Given the description of an element on the screen output the (x, y) to click on. 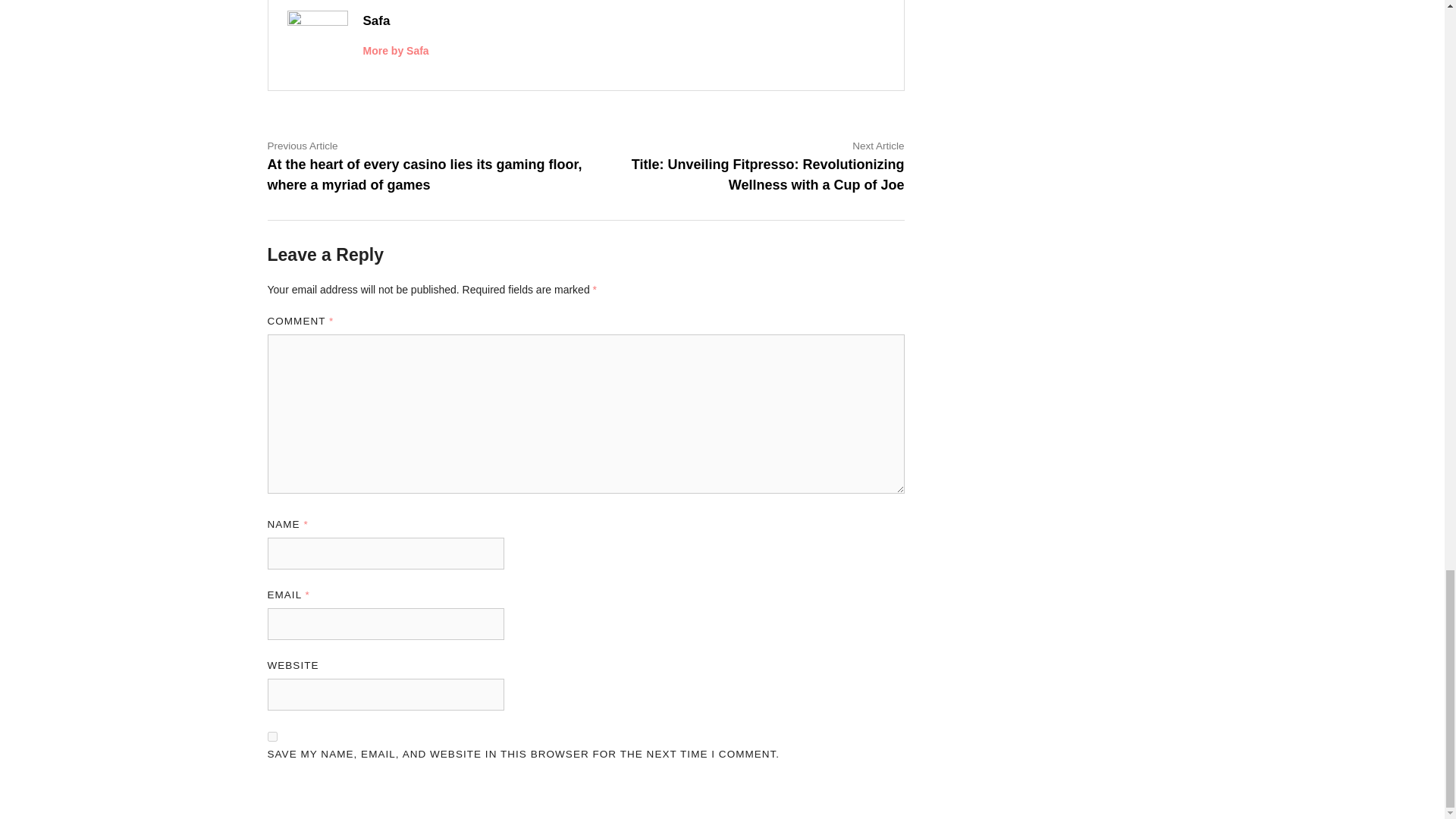
Safa (376, 20)
yes (271, 737)
More by Safa (395, 50)
